Given the description of an element on the screen output the (x, y) to click on. 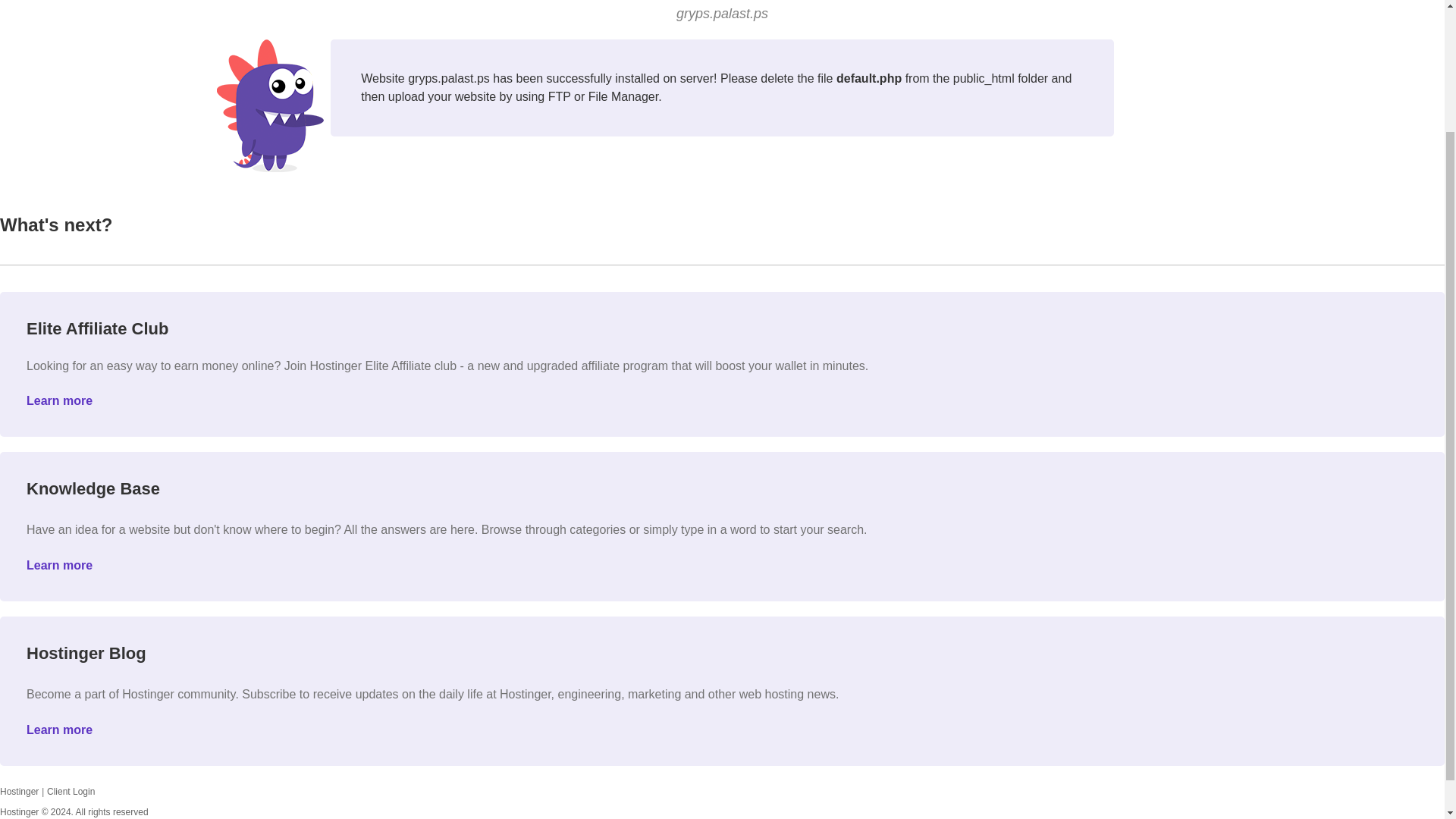
Hostinger (19, 791)
Learn more (59, 564)
Learn more (59, 729)
Learn more (59, 400)
Client Login (70, 791)
